Given the description of an element on the screen output the (x, y) to click on. 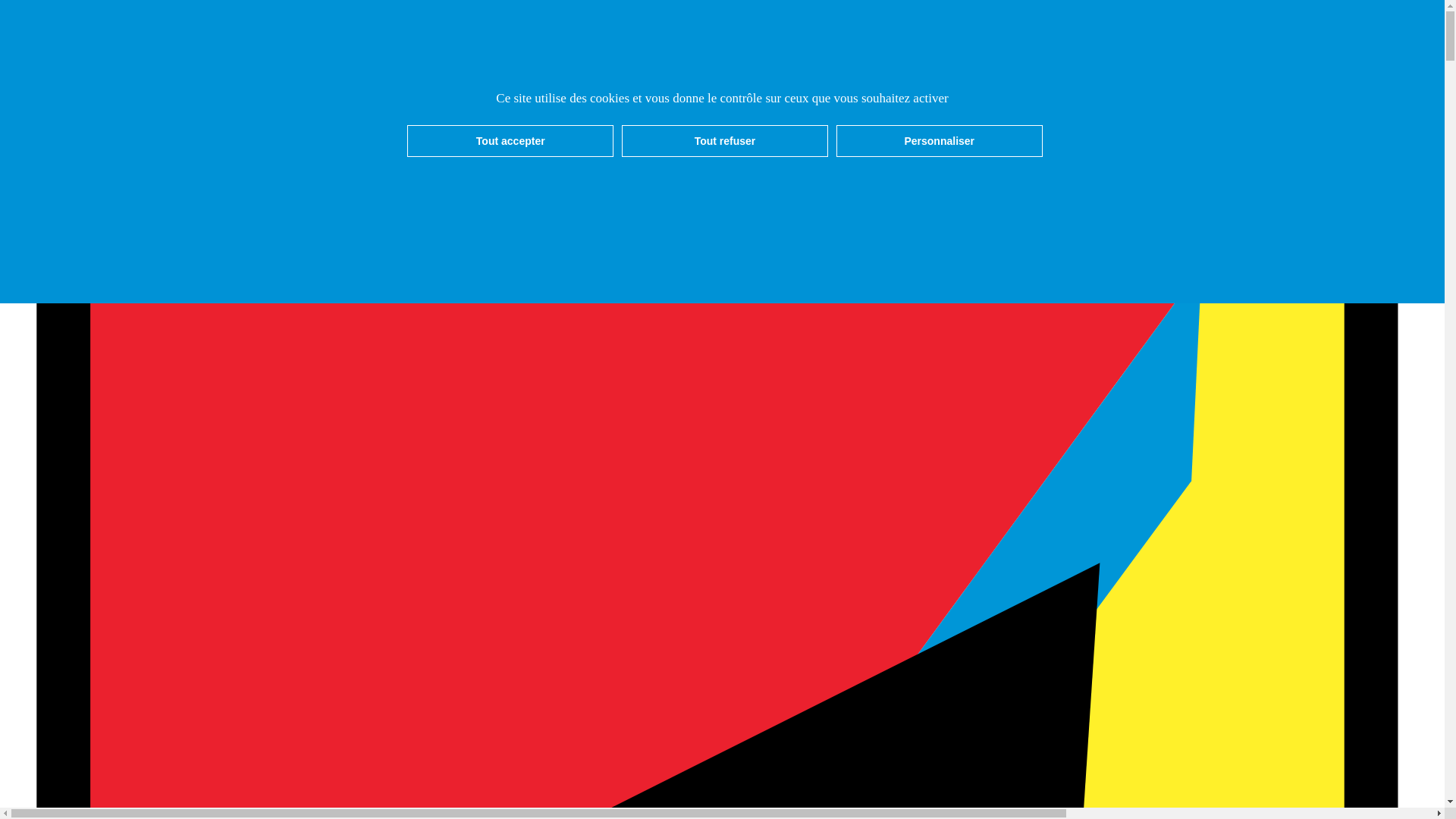
Personnaliser Element type: text (939, 140)
Tout refuser Element type: text (724, 140)
Tout accepter Element type: text (510, 140)
Allez au pied de page Element type: text (88, 45)
Allez au contenu Element type: text (77, 31)
Allez au menu Element type: text (71, 18)
